Given the description of an element on the screen output the (x, y) to click on. 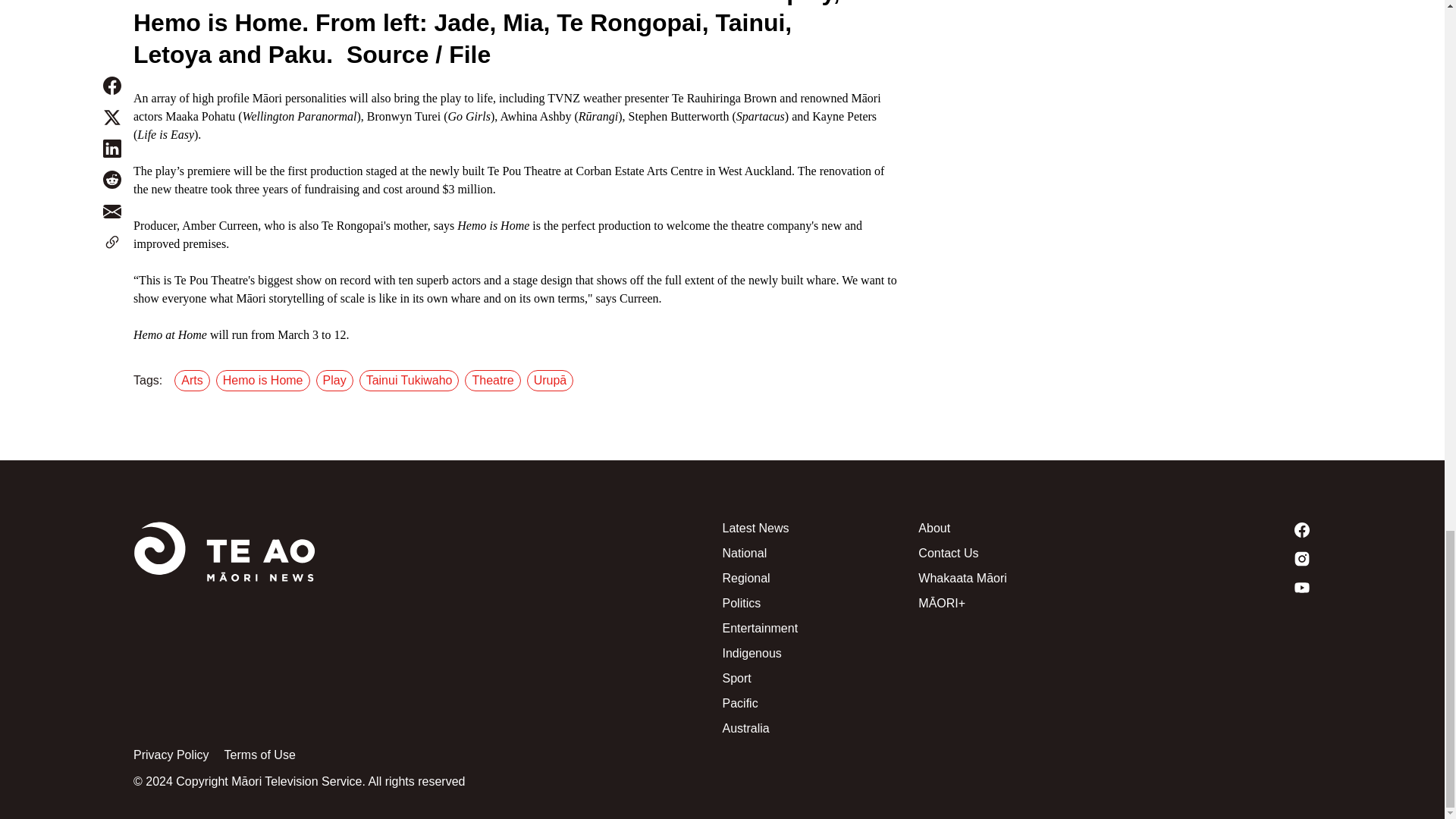
Facebook (1213, 529)
Hemo is Home (265, 380)
Arts (194, 380)
Theatre (494, 380)
Instagram (1213, 558)
Tainui Tukiwaho (412, 380)
Youtube (1213, 587)
Play (337, 380)
